Given the description of an element on the screen output the (x, y) to click on. 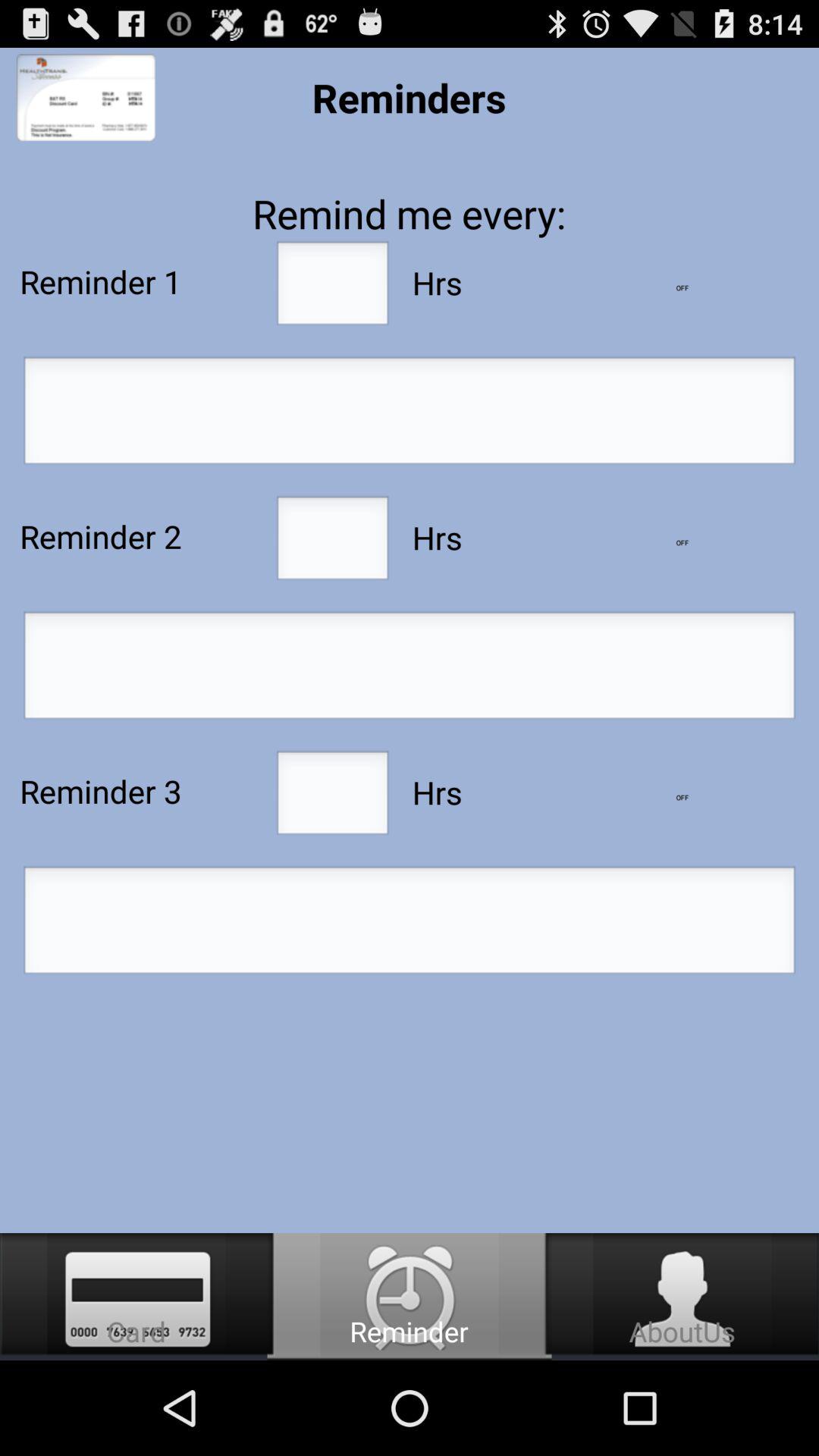
input hours (332, 287)
